Given the description of an element on the screen output the (x, y) to click on. 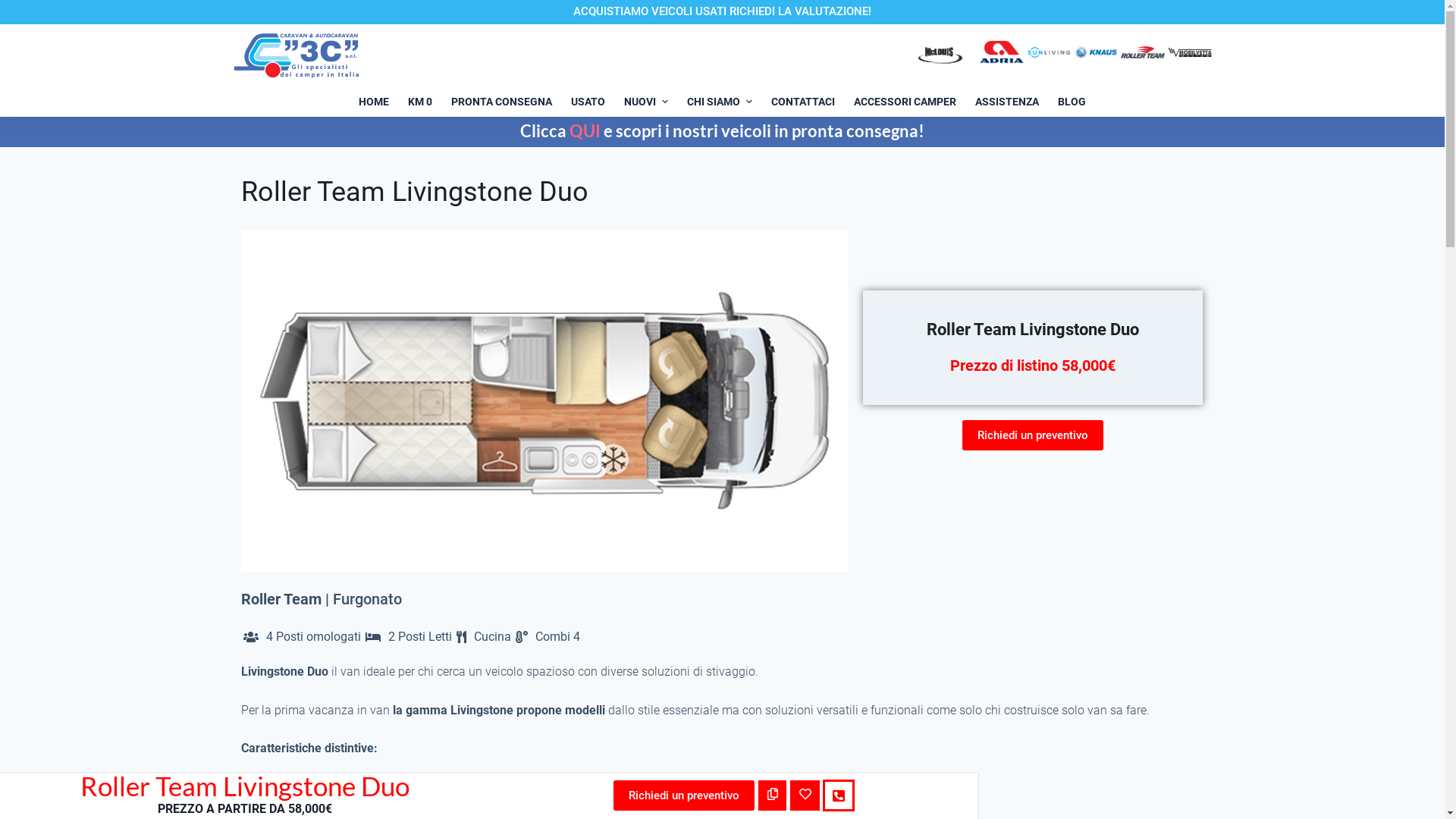
Clicca QUI e scopri i nostri veicoli in pronta consegna! Element type: text (722, 130)
CONTATTACI Element type: text (802, 101)
USATO Element type: text (588, 101)
Salta al contenuto Element type: text (15, 7)
BLOG Element type: text (1071, 101)
Richiedi un preventivo Element type: text (1032, 435)
ASSISTENZA Element type: text (1006, 101)
NUOVI Element type: text (646, 101)
CHI SIAMO Element type: text (719, 101)
ACCESSORI CAMPER Element type: text (904, 101)
PRONTA CONSEGNA Element type: text (501, 101)
ACQUISTIAMO VEICOLI USATI RICHIEDI LA VALUTAZIONE! Element type: text (722, 11)
HOME Element type: text (373, 101)
Richiedi un preventivo Element type: text (682, 795)
KM 0 Element type: text (420, 101)
